Given the description of an element on the screen output the (x, y) to click on. 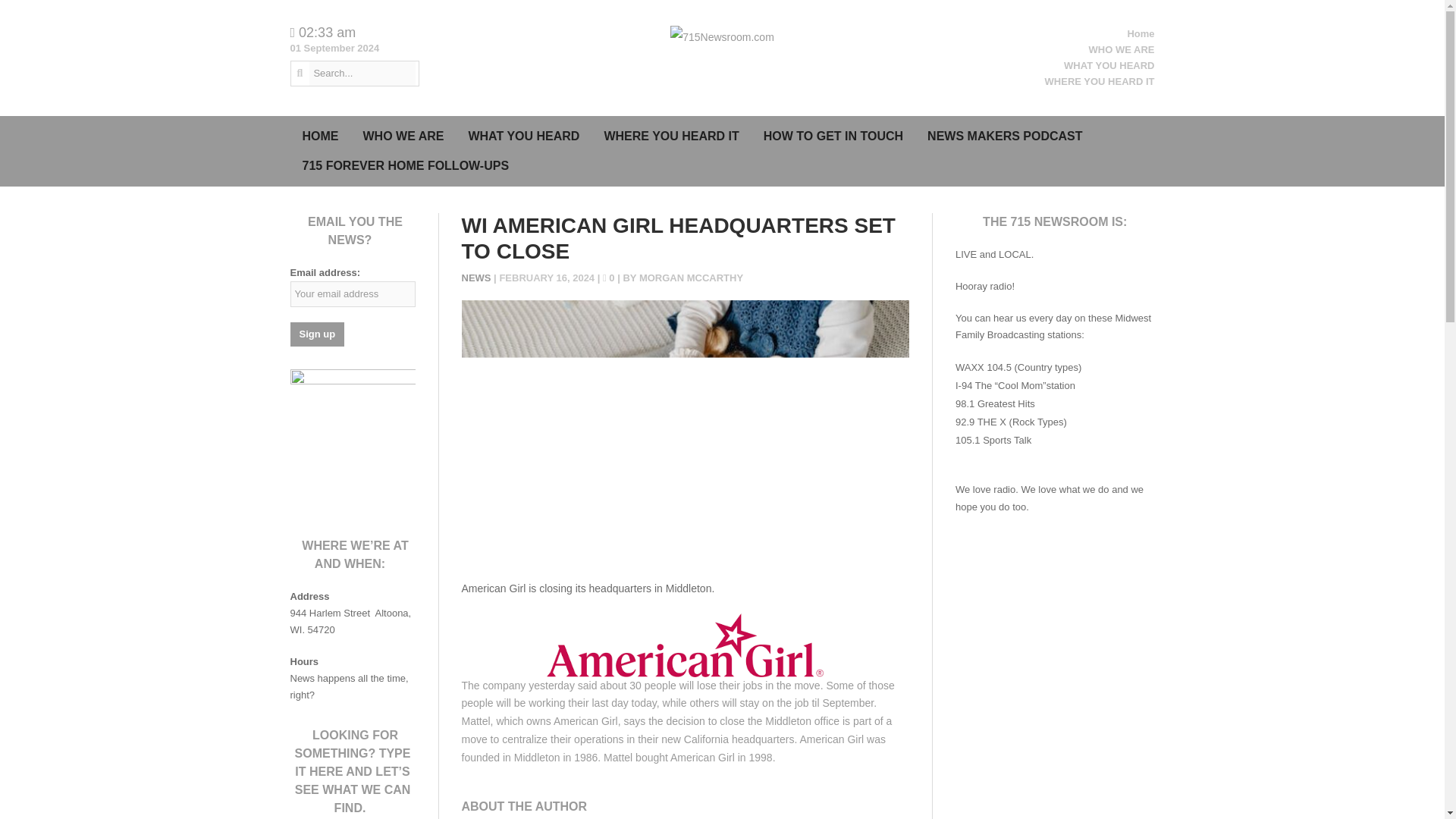
WHO WE ARE (1121, 49)
MORGAN MCCARTHY (690, 277)
HOW TO GET IN TOUCH (833, 136)
WHERE YOU HEARD IT (671, 136)
NEWS MAKERS PODCAST (1004, 136)
Sign up (316, 334)
715 FOREVER HOME FOLLOW-UPS (405, 166)
0 (609, 277)
WHAT YOU HEARD (523, 136)
WHERE YOU HEARD IT (1099, 81)
